Given the description of an element on the screen output the (x, y) to click on. 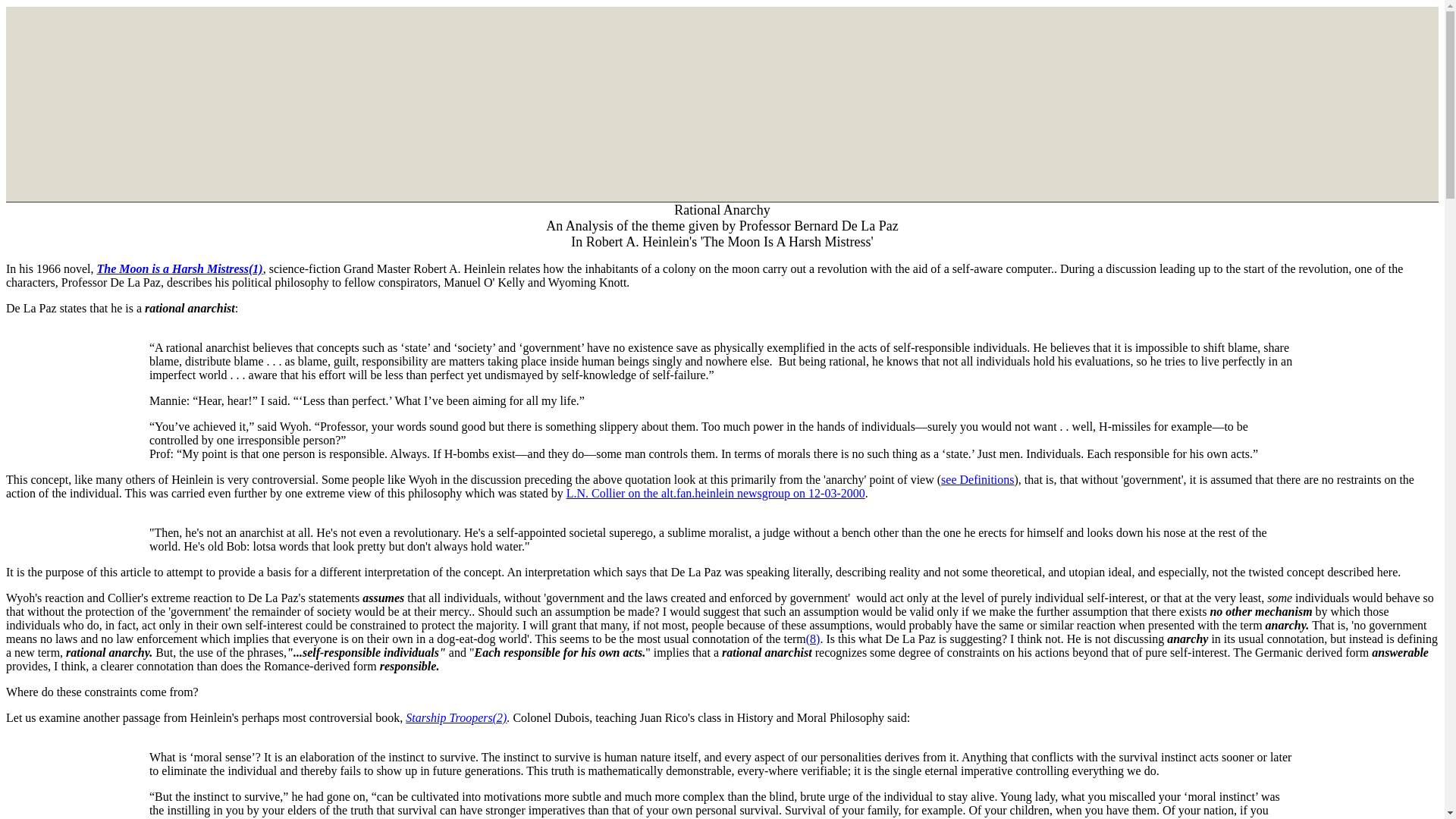
see Definitions (976, 479)
L.N. Collier on the alt.fan.heinlein newsgroup on 12-03-2000 (715, 492)
